Given the description of an element on the screen output the (x, y) to click on. 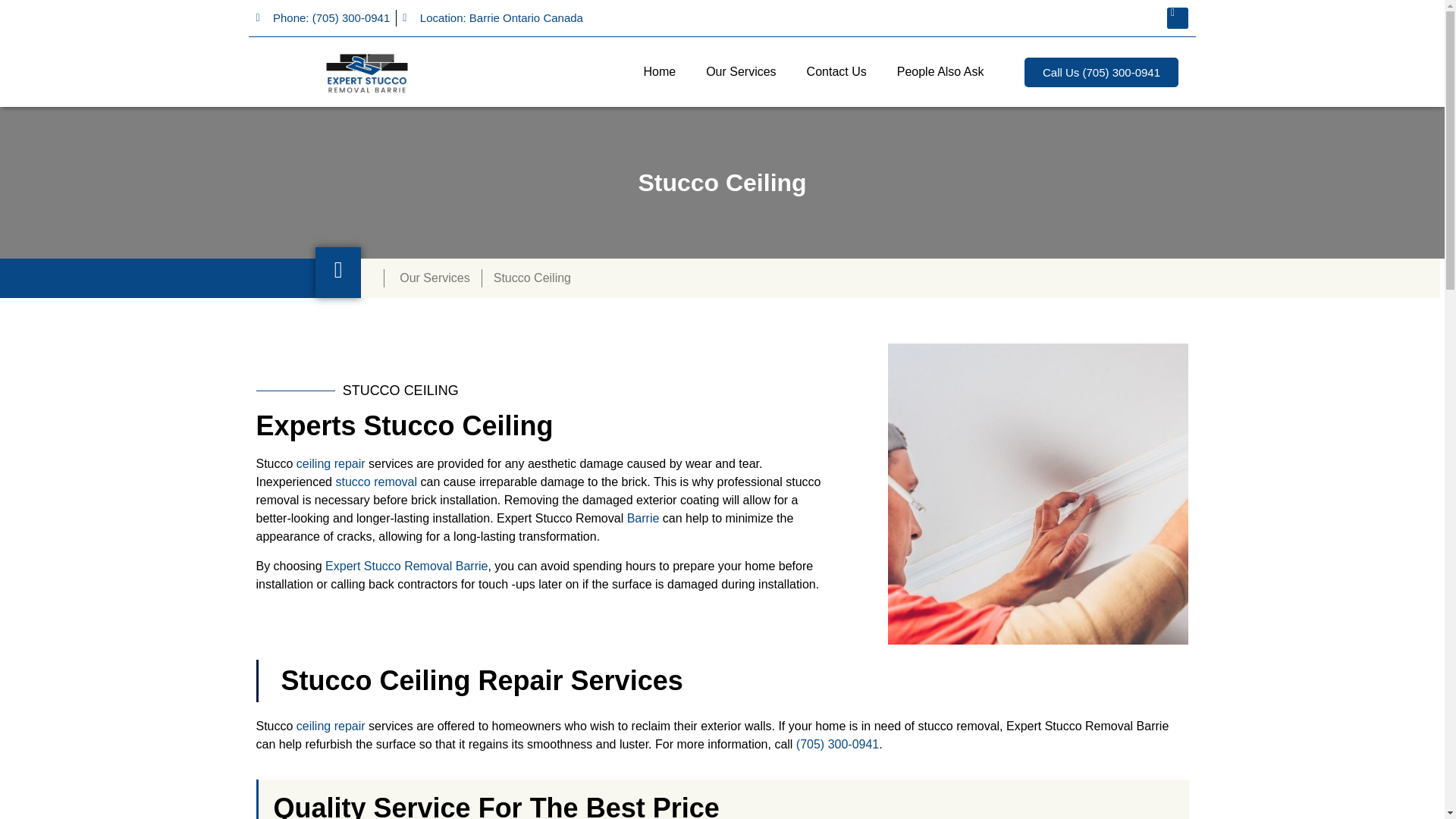
Home (658, 71)
Location: Barrie Ontario Canada (493, 18)
Our Services (740, 71)
People Also Ask (940, 71)
Barrie (643, 517)
Contact Us (837, 71)
